Given the description of an element on the screen output the (x, y) to click on. 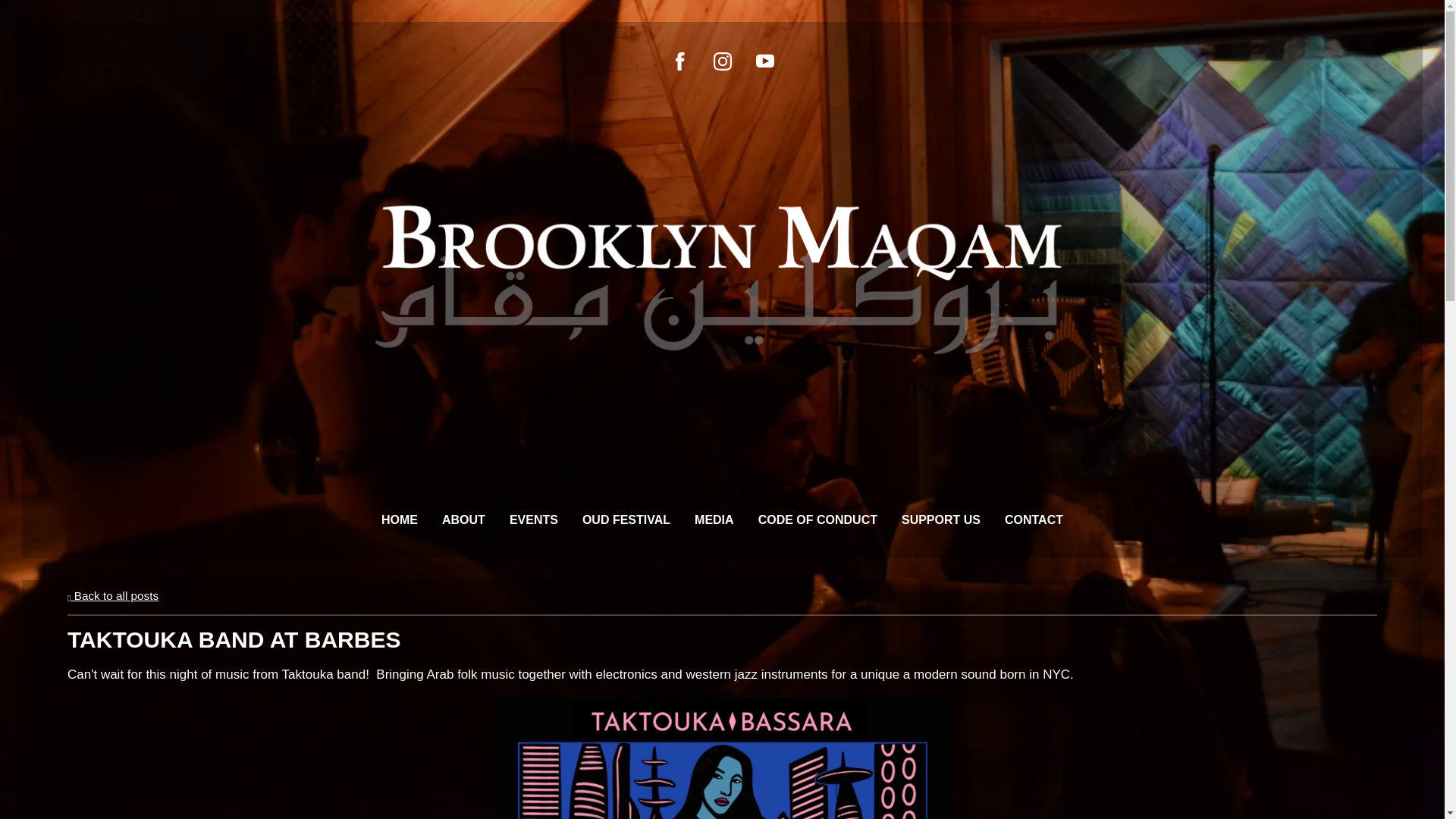
ABOUT (463, 520)
OUD FESTIVAL (625, 520)
Back to all posts (112, 594)
SUPPORT US (940, 520)
HOME (399, 520)
CONTACT (1033, 520)
MEDIA (713, 520)
EVENTS (533, 520)
CODE OF CONDUCT (817, 520)
